Given the description of an element on the screen output the (x, y) to click on. 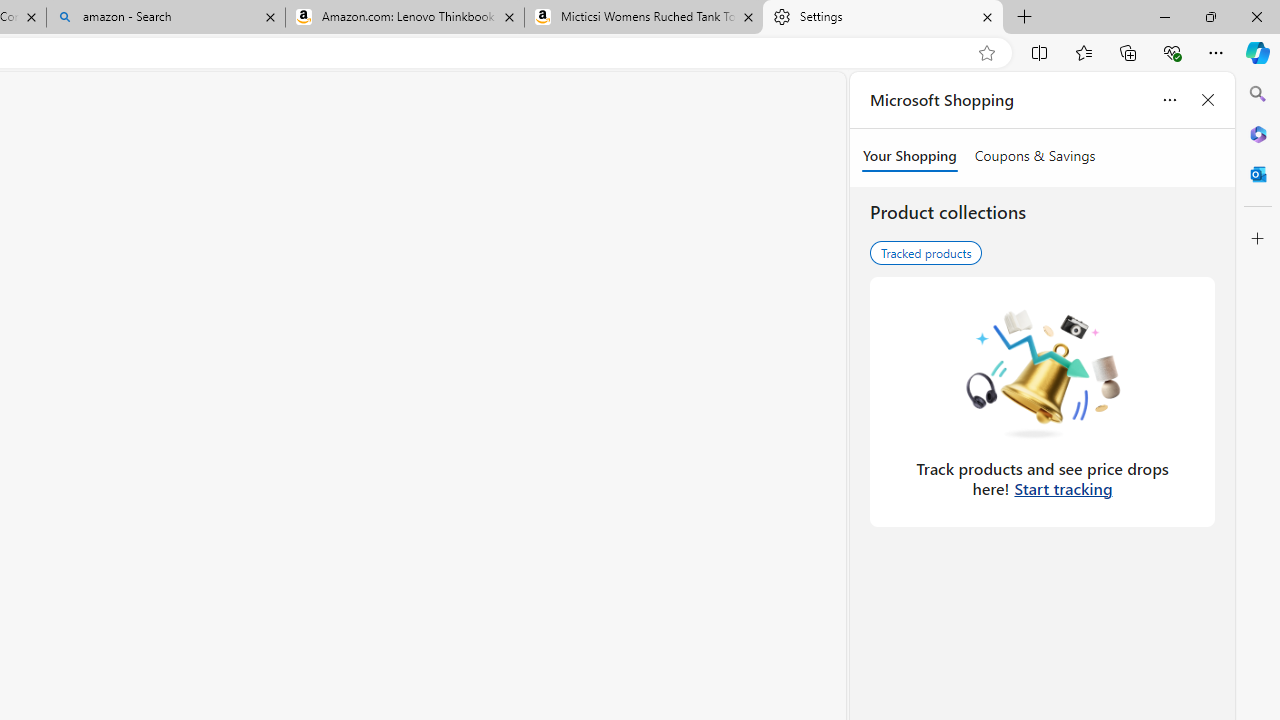
amazon - Search (166, 17)
